Given the description of an element on the screen output the (x, y) to click on. 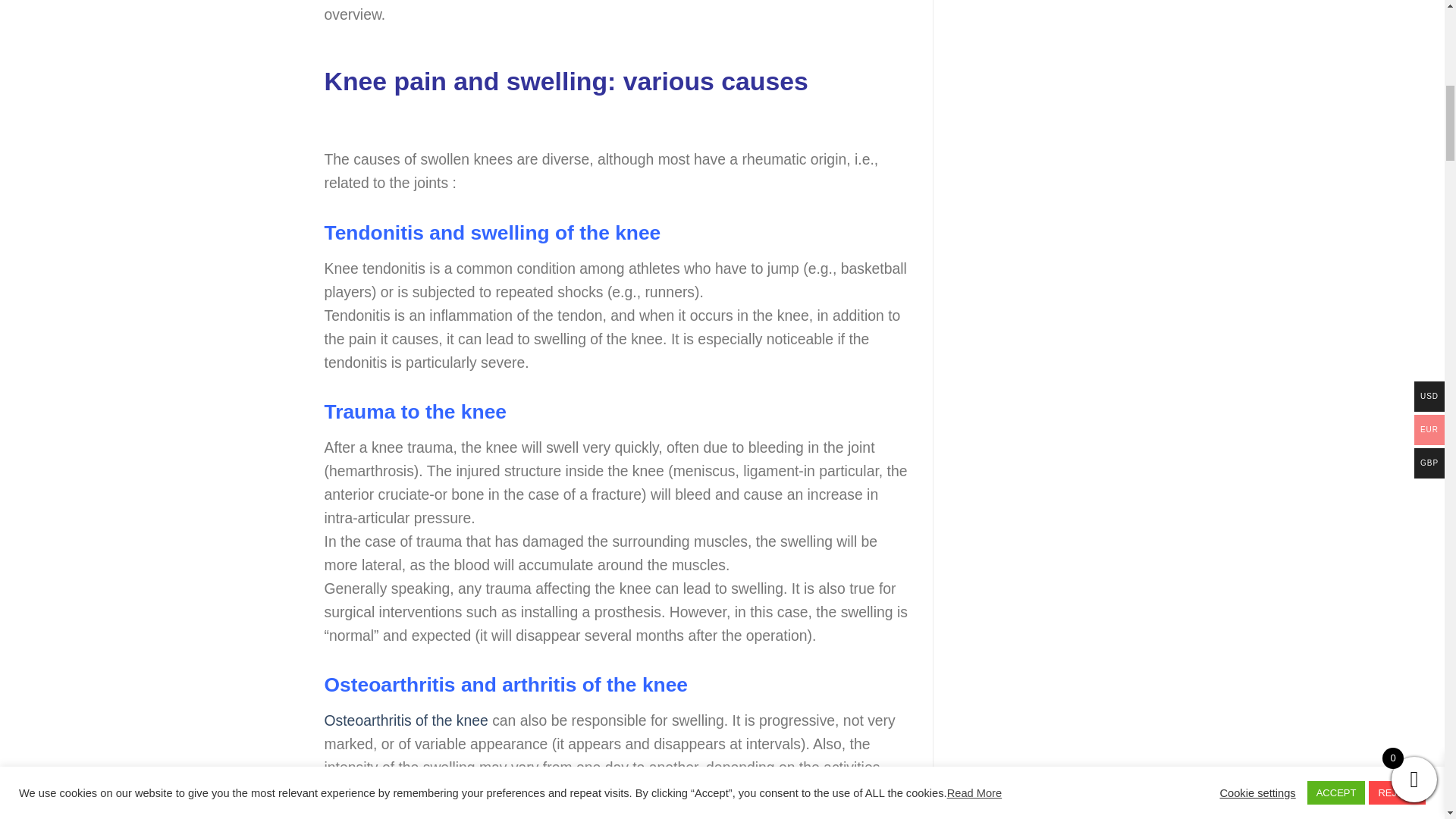
Osteoarthritis of the knee (405, 719)
